Given the description of an element on the screen output the (x, y) to click on. 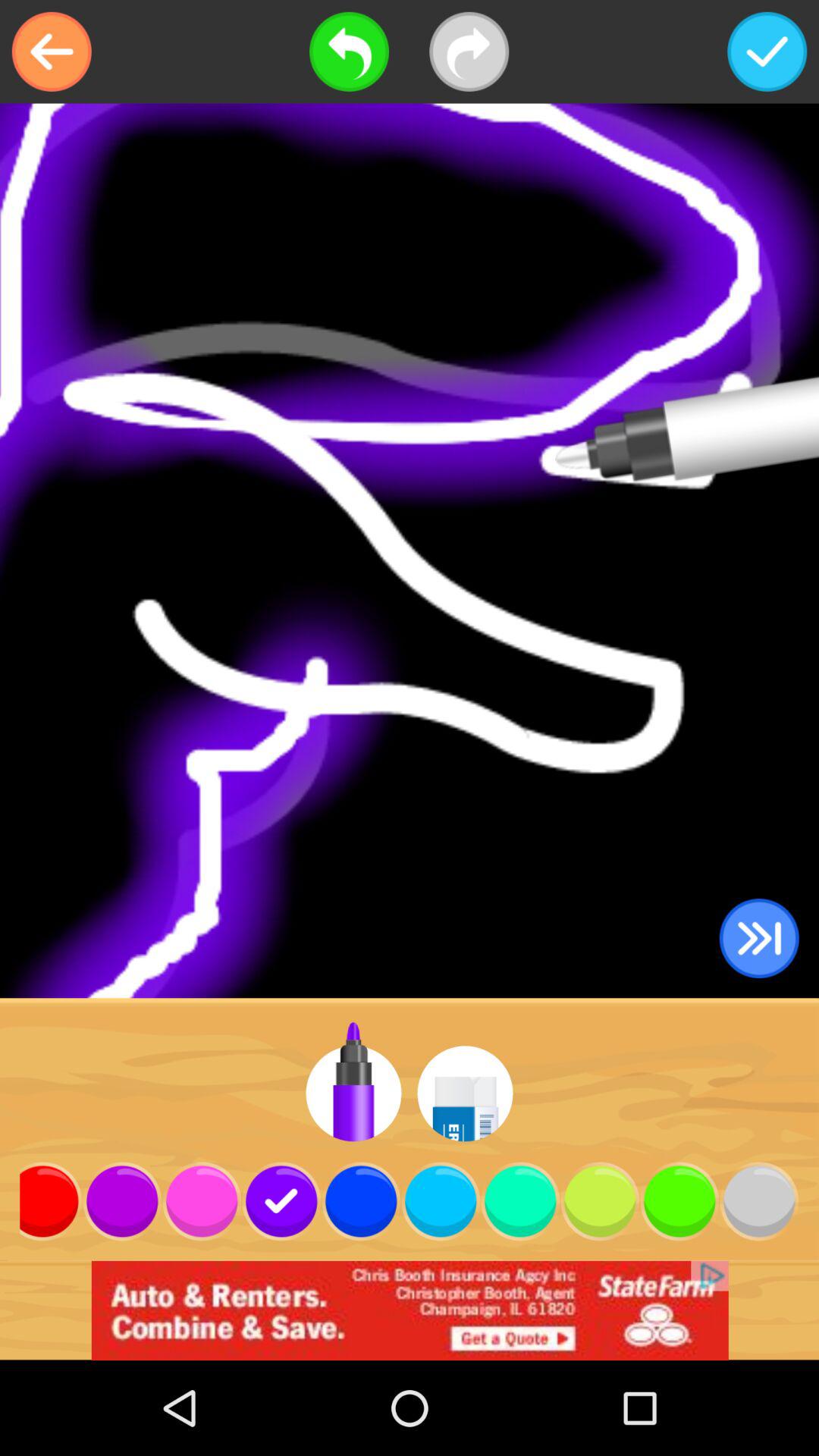
go back (51, 51)
